Given the description of an element on the screen output the (x, y) to click on. 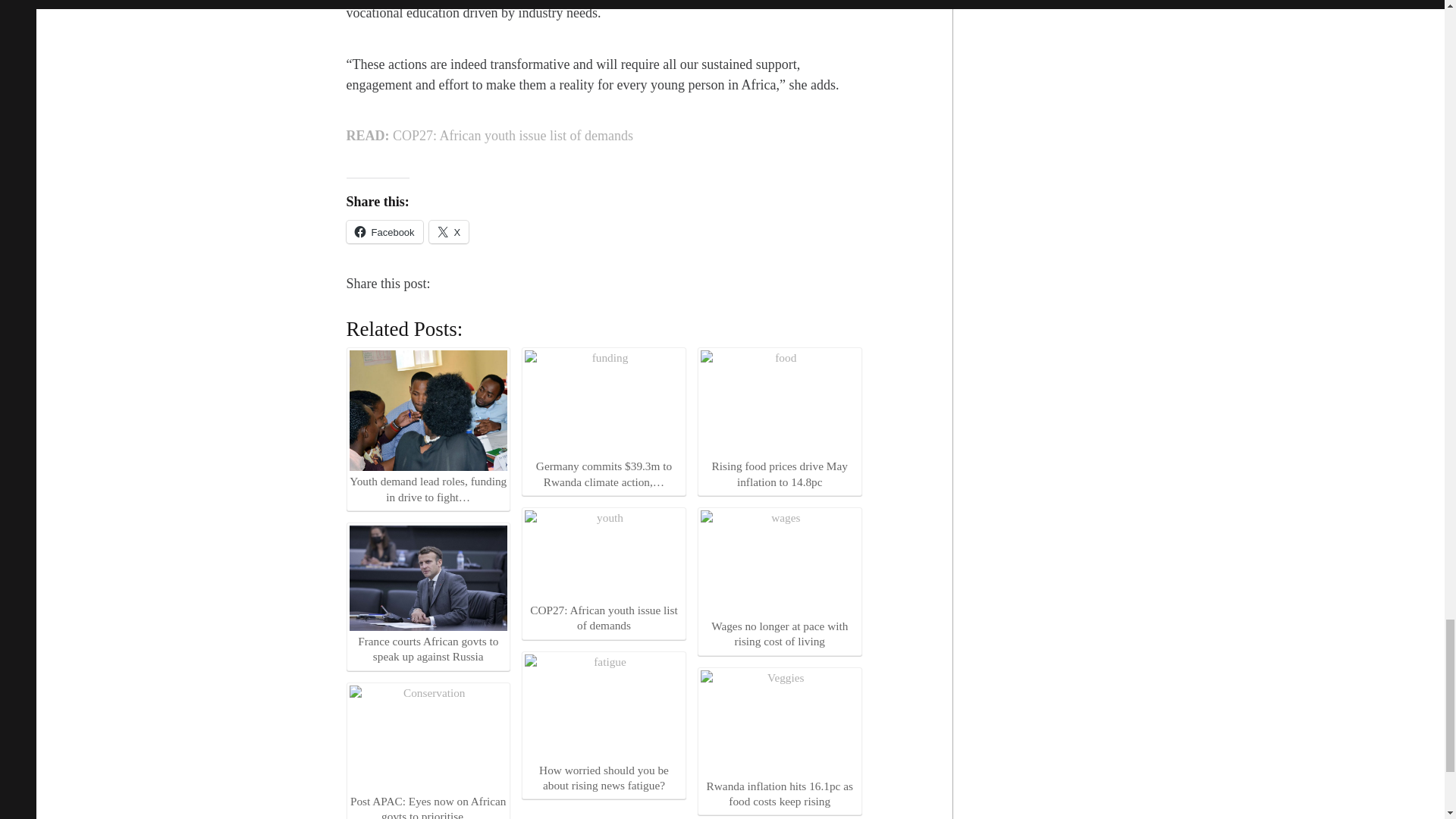
France courts African govts to speak up against Russia (427, 577)
X (448, 231)
France courts African govts to speak up against Russia (427, 595)
How worried should you be about rising news fatigue? (603, 707)
COP27: African youth issue list of demands (603, 554)
COP27: African youth issue list of demands (603, 571)
How worried should you be about rising news fatigue? (603, 723)
Click to share on Facebook (384, 231)
Click to share on X (448, 231)
Rising food prices drive May inflation to 14.8pc (779, 419)
Facebook (384, 231)
READ: COP27: African youth issue list of demands (488, 136)
Wages no longer at pace with rising cost of living (779, 580)
